Given the description of an element on the screen output the (x, y) to click on. 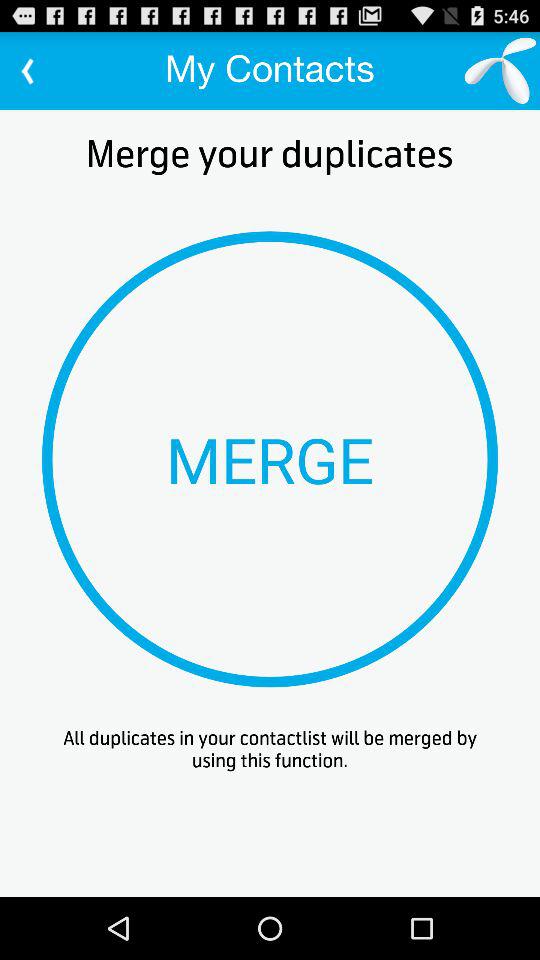
proceed with merging (270, 459)
